Given the description of an element on the screen output the (x, y) to click on. 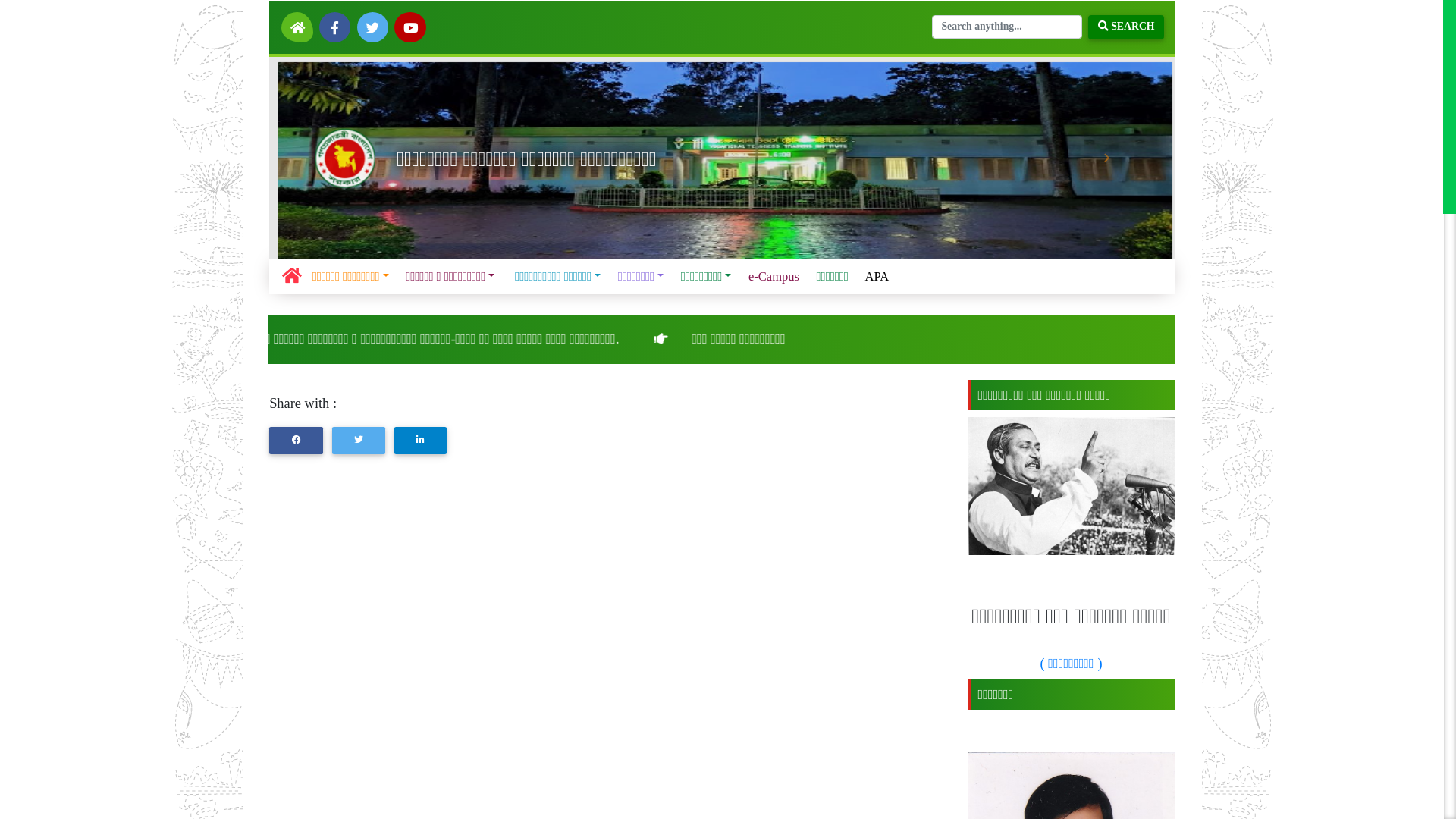
Next Element type: text (962, 137)
 e-Campus Element type: text (677, 240)
  Element type: text (357, 23)
Facebook Element type: hover (292, 23)
  Element type: text (259, 23)
Twitter Element type: hover (324, 23)
Previous Element type: text (293, 137)
  Element type: text (324, 23)
 APA Element type: text (766, 240)
Youtube Element type: hover (357, 23)
My Home Element type: hover (259, 23)
  Element type: text (292, 23)
SEARCH Element type: text (979, 23)
